Given the description of an element on the screen output the (x, y) to click on. 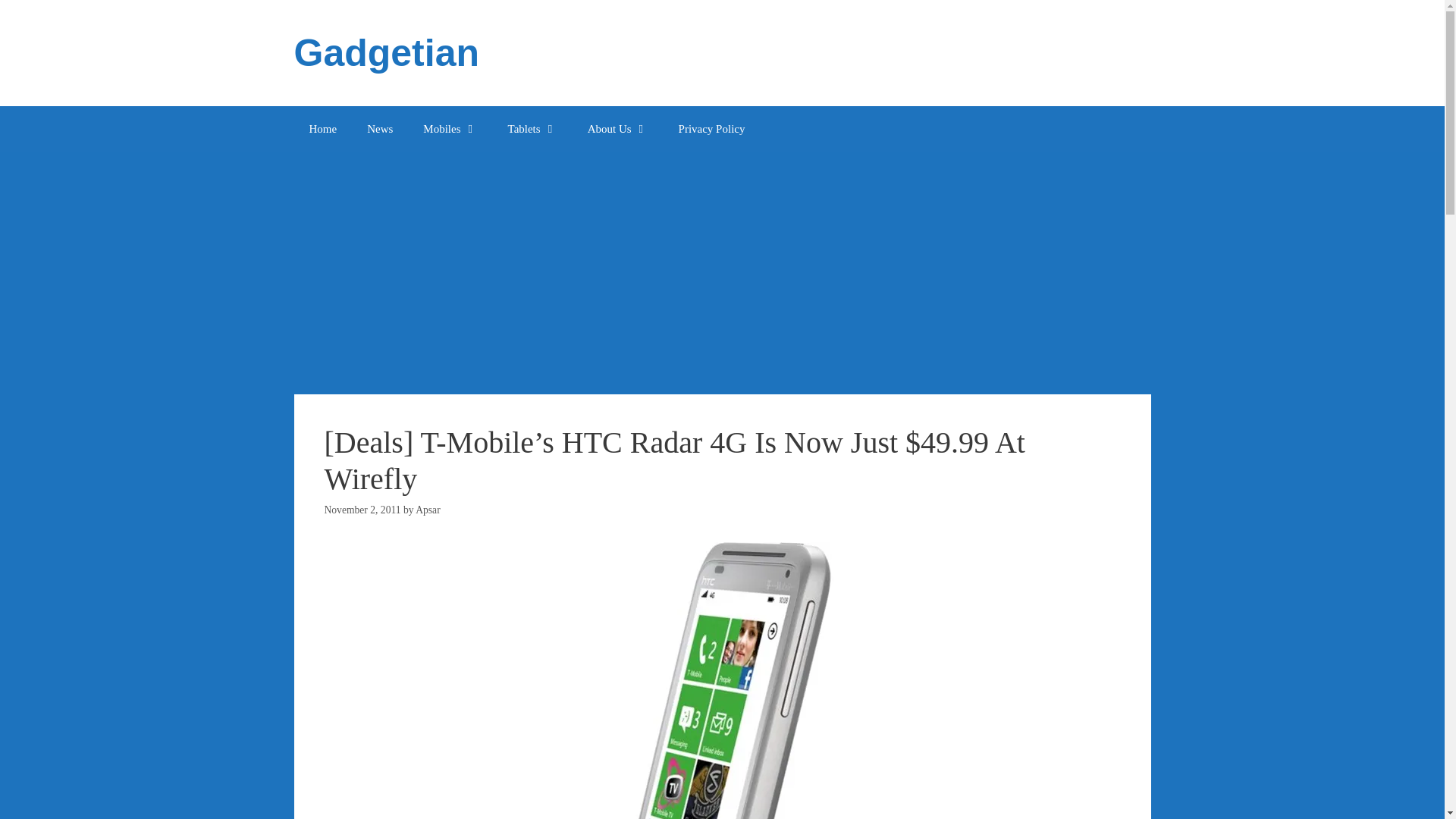
View all posts by Apsar (426, 509)
Privacy Policy (711, 128)
Apsar (426, 509)
News (379, 128)
Mobiles (449, 128)
Home (323, 128)
About Us (617, 128)
Tablets (532, 128)
Gadgetian (386, 52)
